Given the description of an element on the screen output the (x, y) to click on. 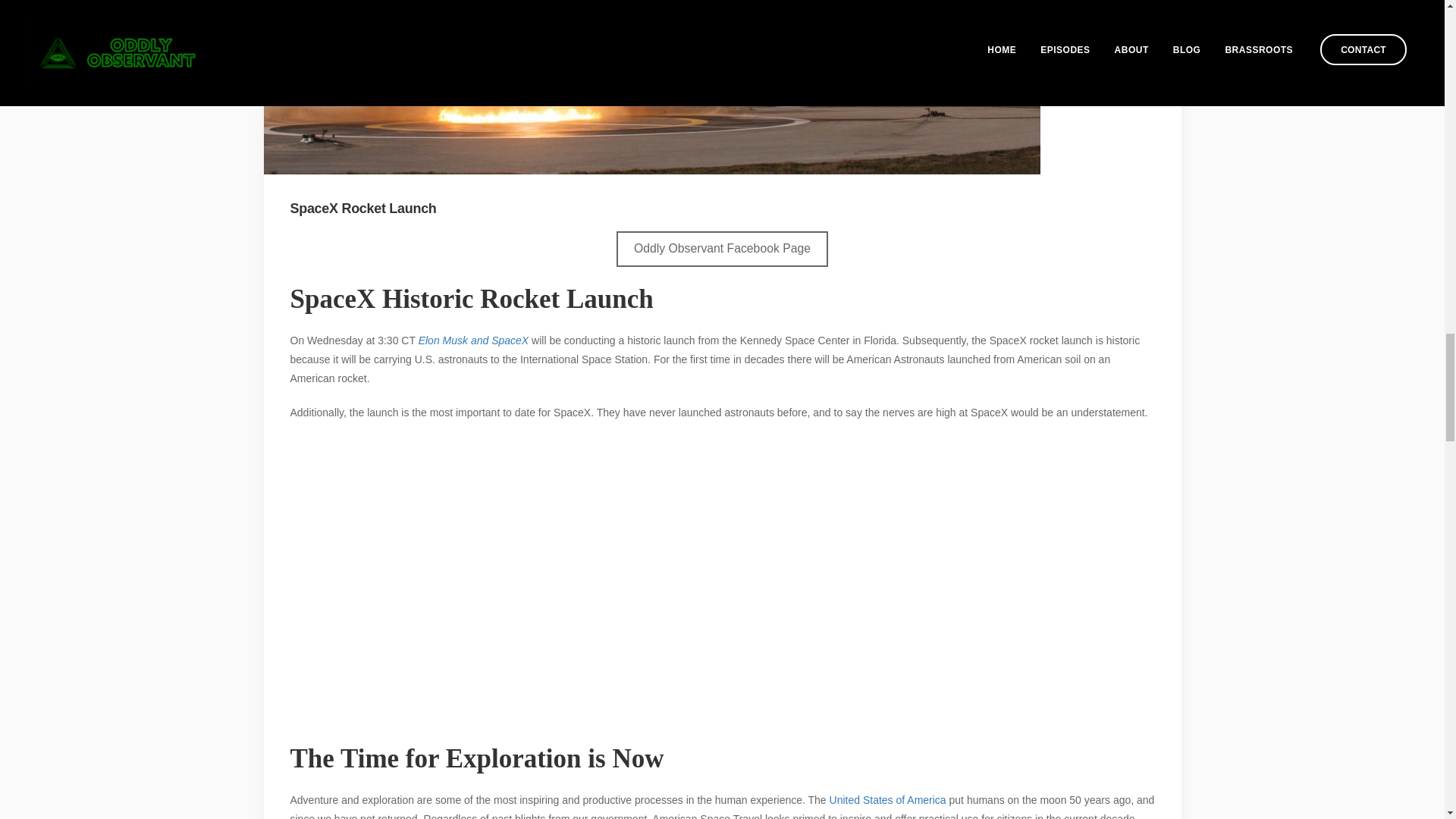
United States of America (886, 799)
Elon Musk and SpaceX (474, 340)
Oddly Observant Facebook Page (721, 248)
